Given the description of an element on the screen output the (x, y) to click on. 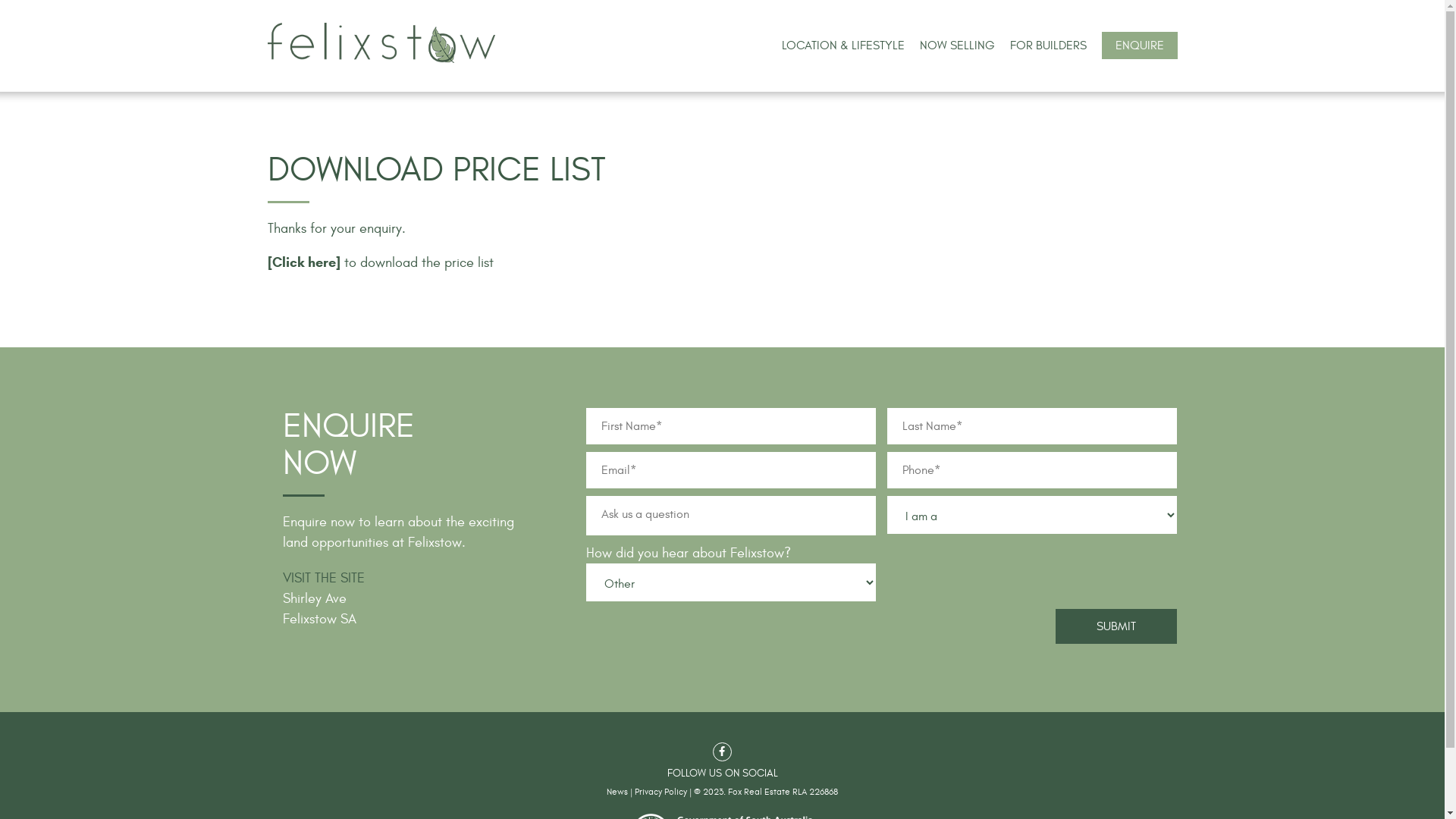
Privacy Policy Element type: text (660, 790)
ENQUIRE Element type: text (1138, 45)
News Element type: text (616, 790)
NOW SELLING Element type: text (956, 45)
SUBMIT Element type: text (1115, 625)
FOR BUILDERS Element type: text (1048, 45)
LOCATION & LIFESTYLE Element type: text (842, 45)
